Given the description of an element on the screen output the (x, y) to click on. 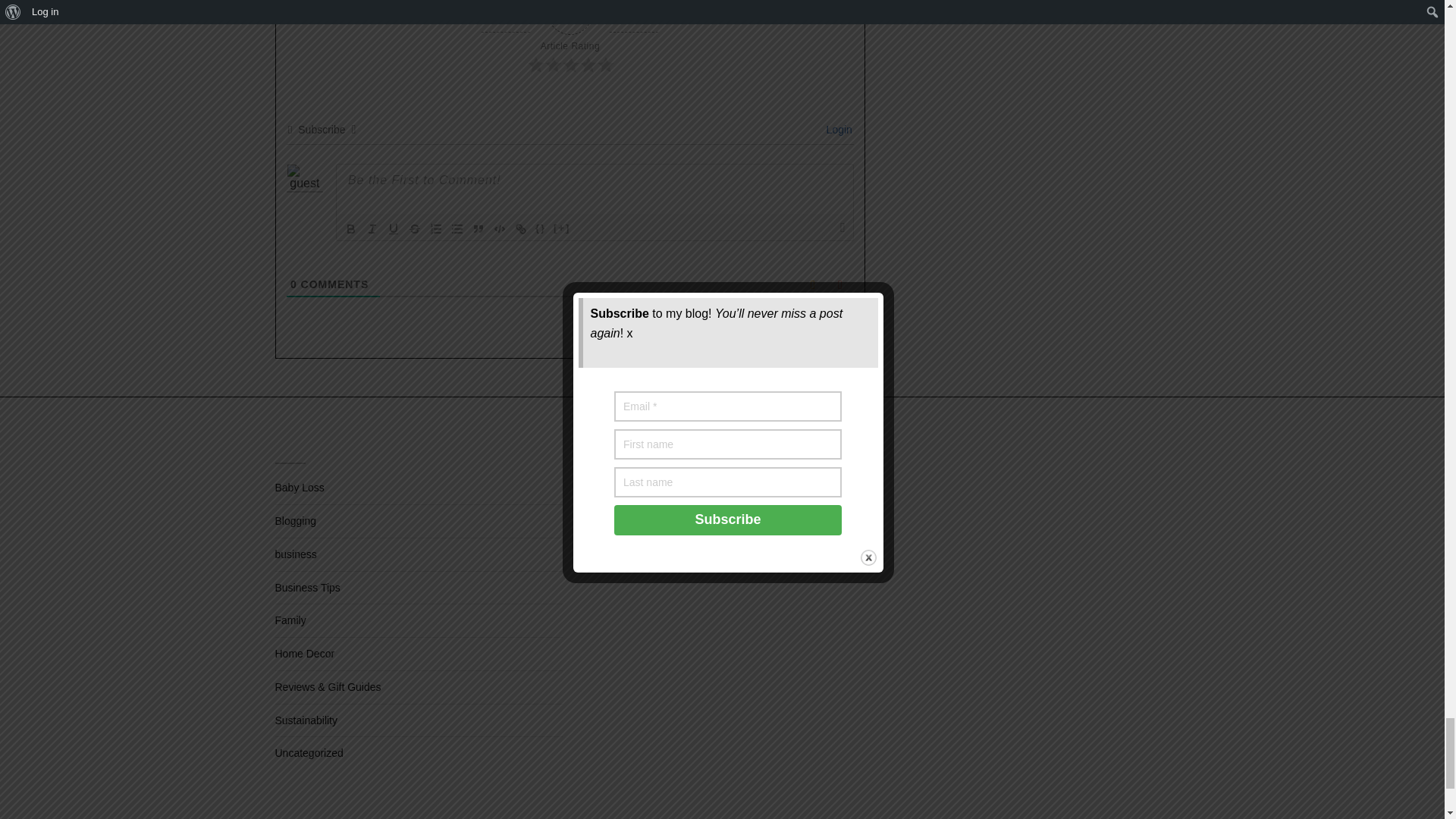
Bold (350, 229)
Ordered List (435, 229)
Underline (393, 229)
Login (836, 129)
bullet (456, 229)
Italic (371, 229)
ordered (435, 229)
Strike (414, 229)
